Given the description of an element on the screen output the (x, y) to click on. 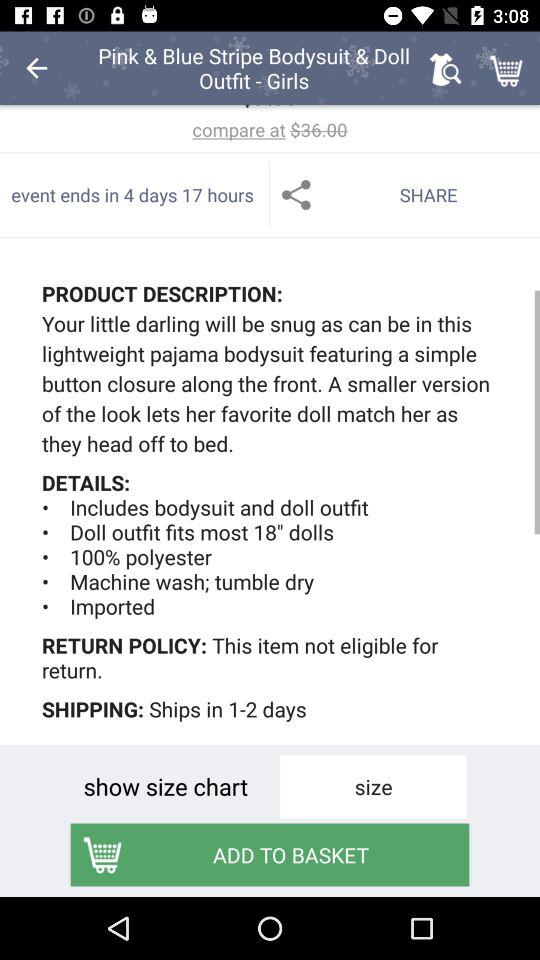
open the item next to the pink blue stripe icon (444, 67)
